Given the description of an element on the screen output the (x, y) to click on. 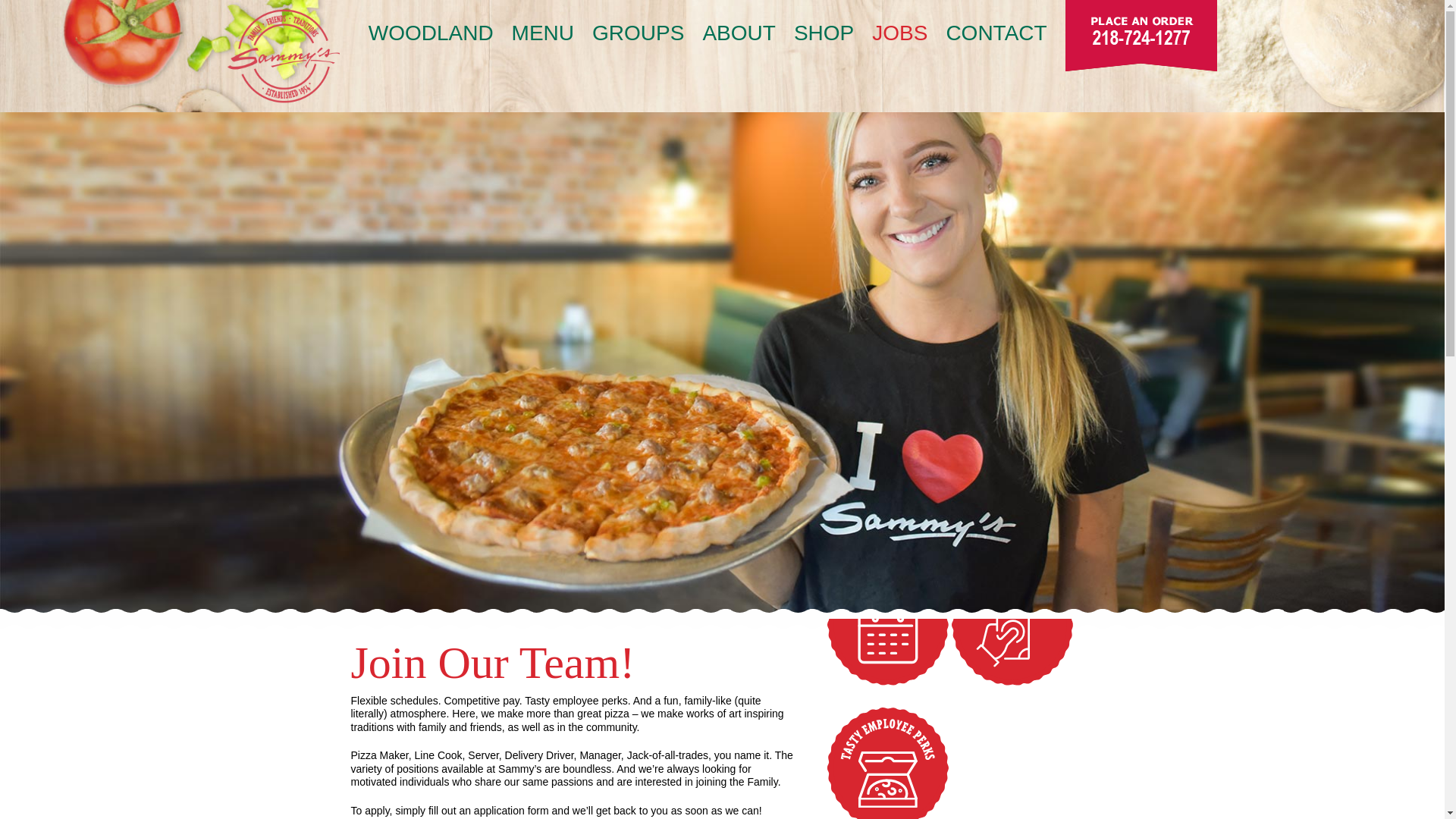
WOODLAND (430, 33)
MENU (542, 33)
CONTACT (995, 33)
GROUPS (638, 33)
JOBS (899, 33)
SHOP (823, 33)
ABOUT (737, 33)
